Given the description of an element on the screen output the (x, y) to click on. 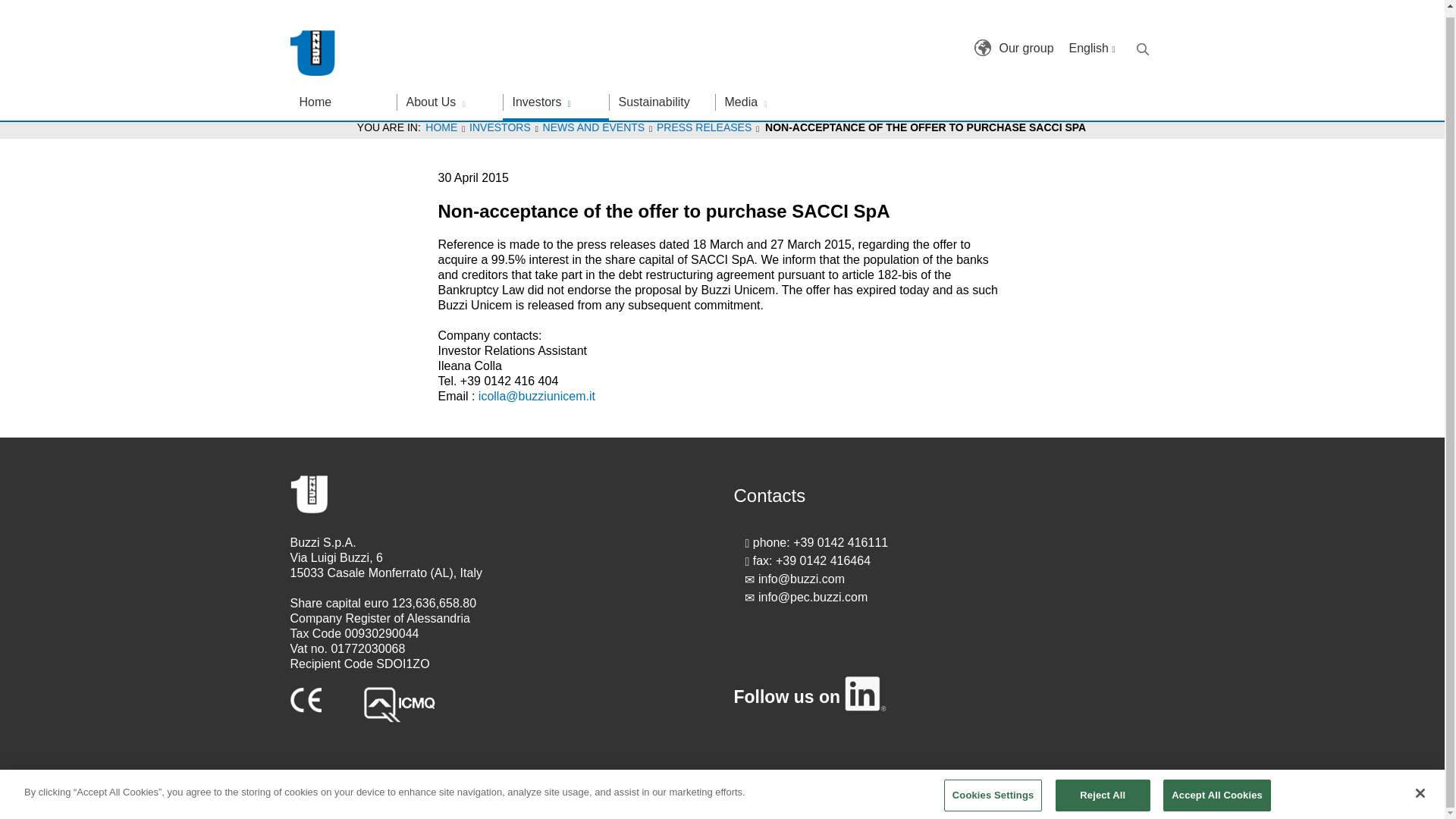
Go to Buzzi SpA (313, 46)
EN (1091, 42)
About Us (449, 95)
Home (342, 95)
keywords (1141, 42)
Our group (982, 41)
About Us (449, 95)
English (1091, 42)
Our group (1025, 42)
Home (342, 95)
Our group (1025, 42)
Investors (555, 95)
